Given the description of an element on the screen output the (x, y) to click on. 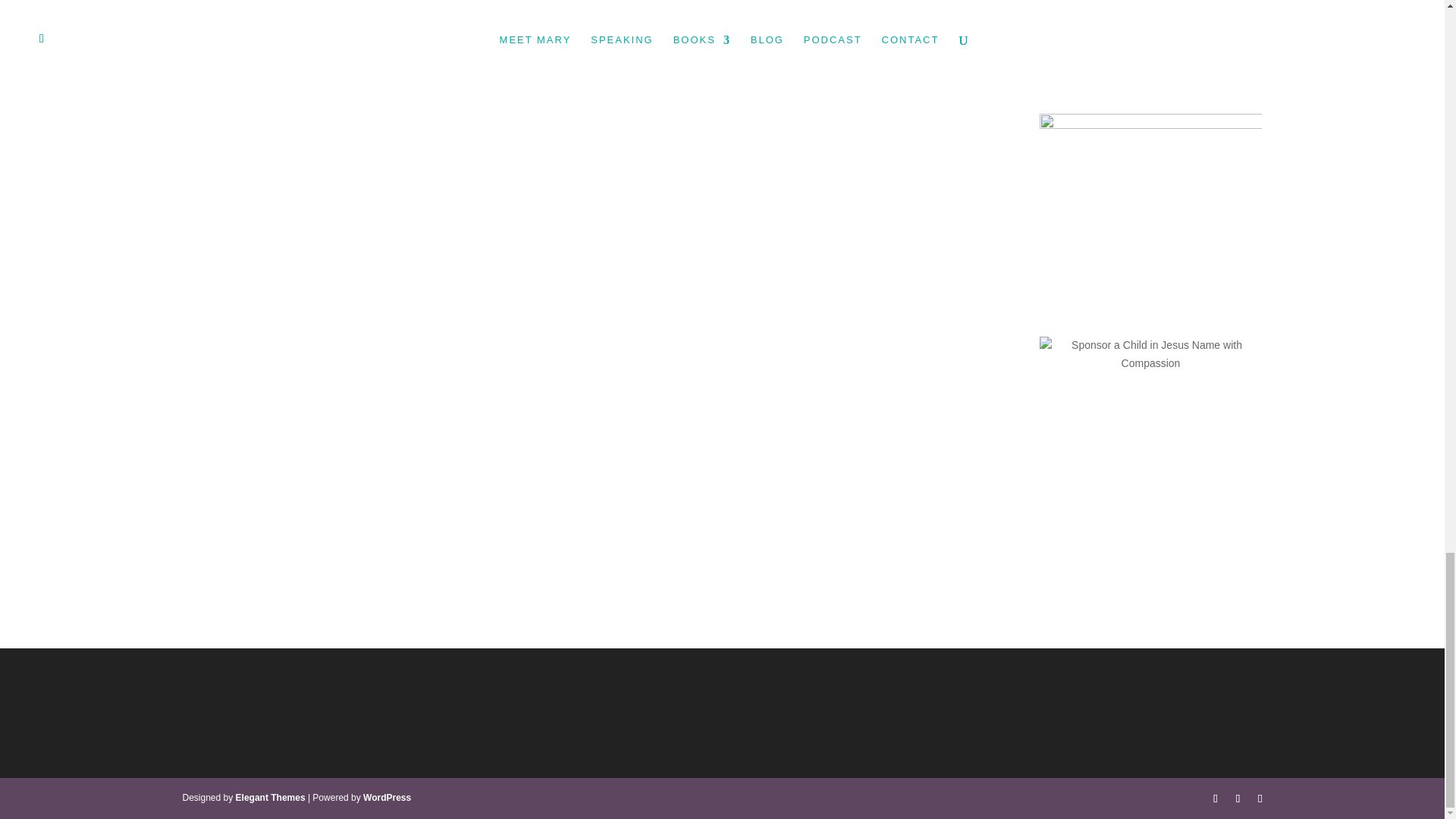
Sponsor a Child in Jesus Name with Compassion (1150, 354)
